Given the description of an element on the screen output the (x, y) to click on. 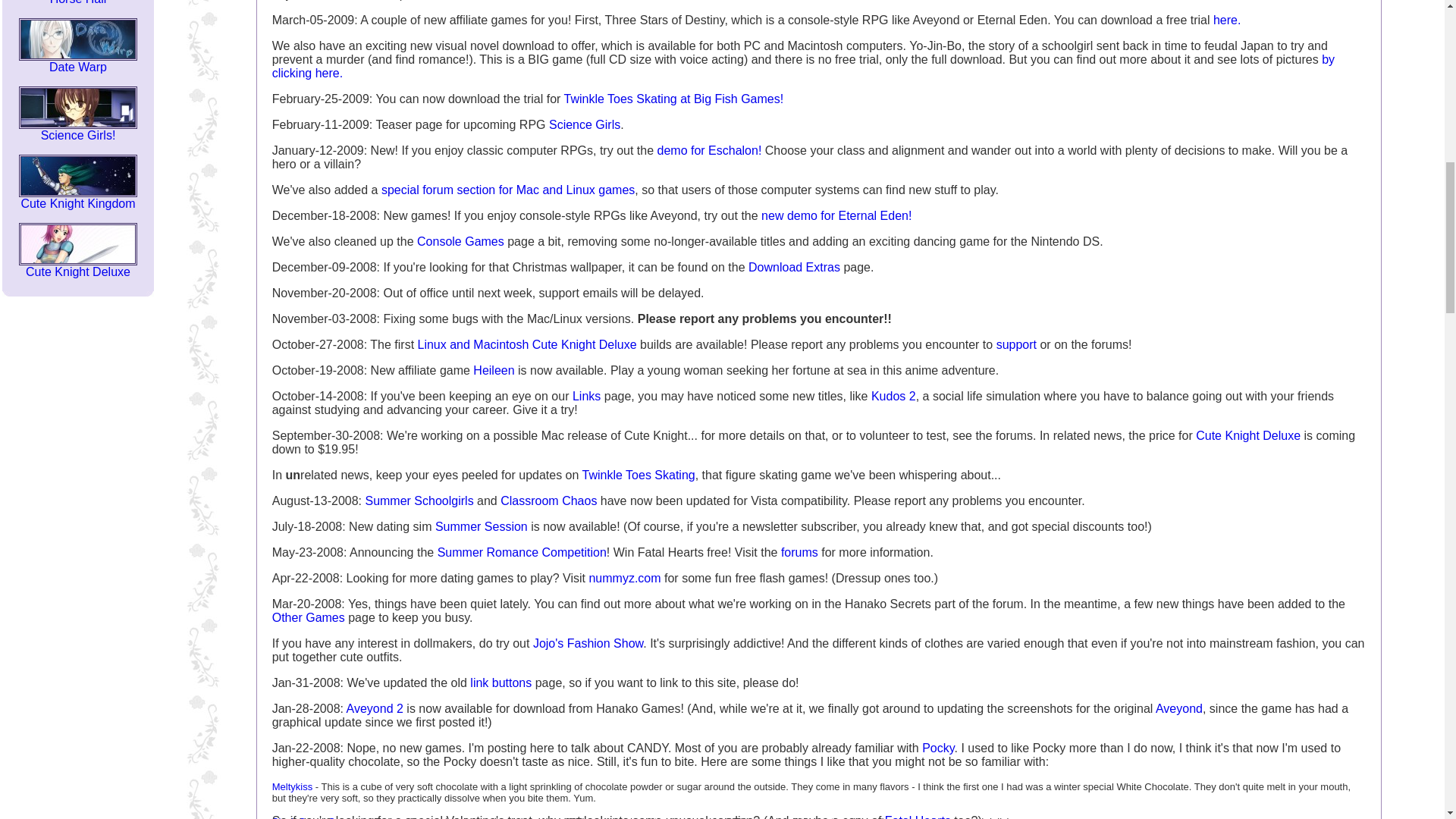
Science Girls! (77, 2)
Date Warp (77, 129)
Cute Knight Deluxe (77, 61)
Cute Knight Kingdom (77, 266)
